Given the description of an element on the screen output the (x, y) to click on. 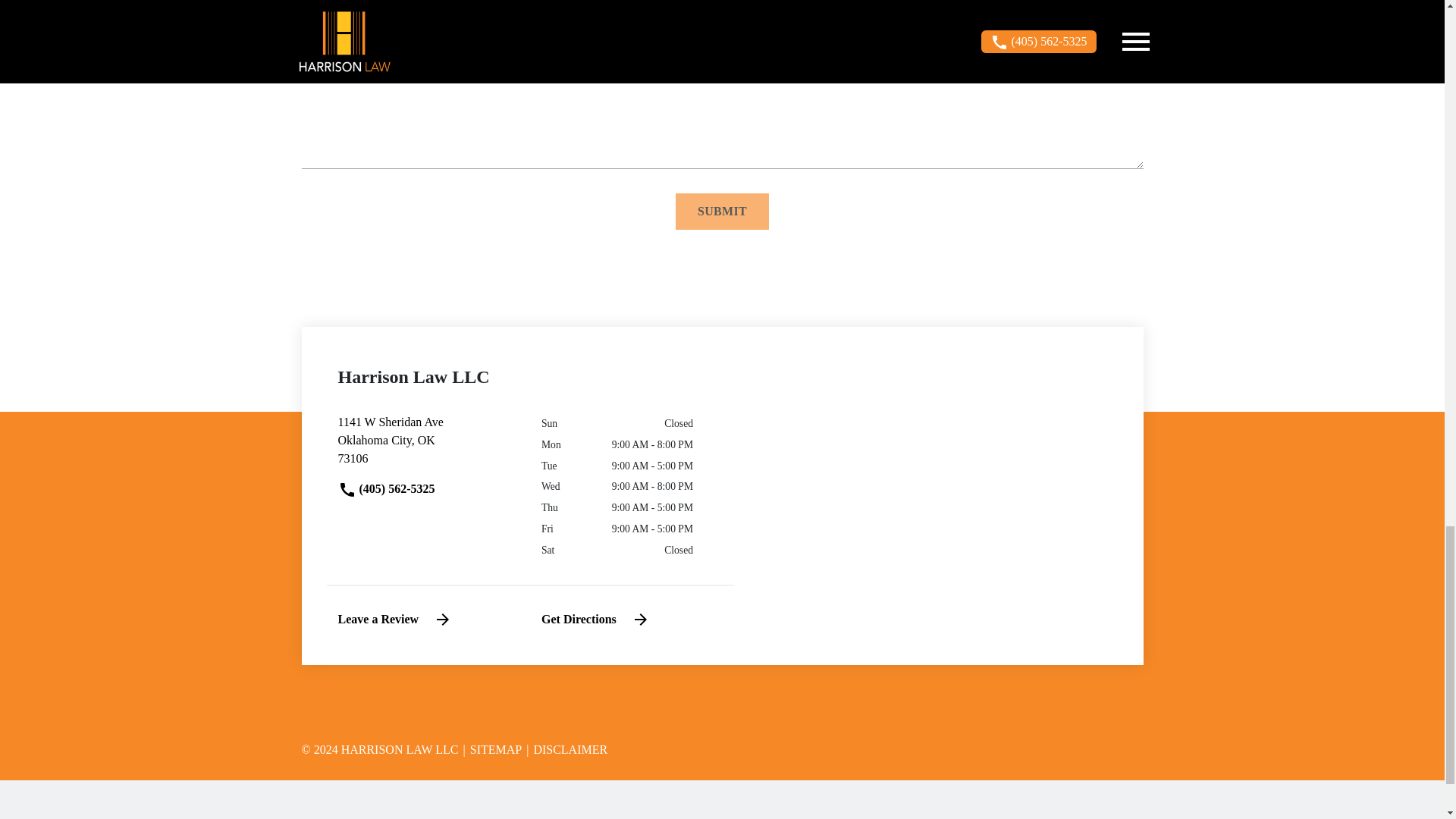
DISCLAIMER (565, 748)
Leave a Review (428, 446)
SITEMAP (394, 619)
Get Directions (491, 748)
SUBMIT (595, 619)
